Given the description of an element on the screen output the (x, y) to click on. 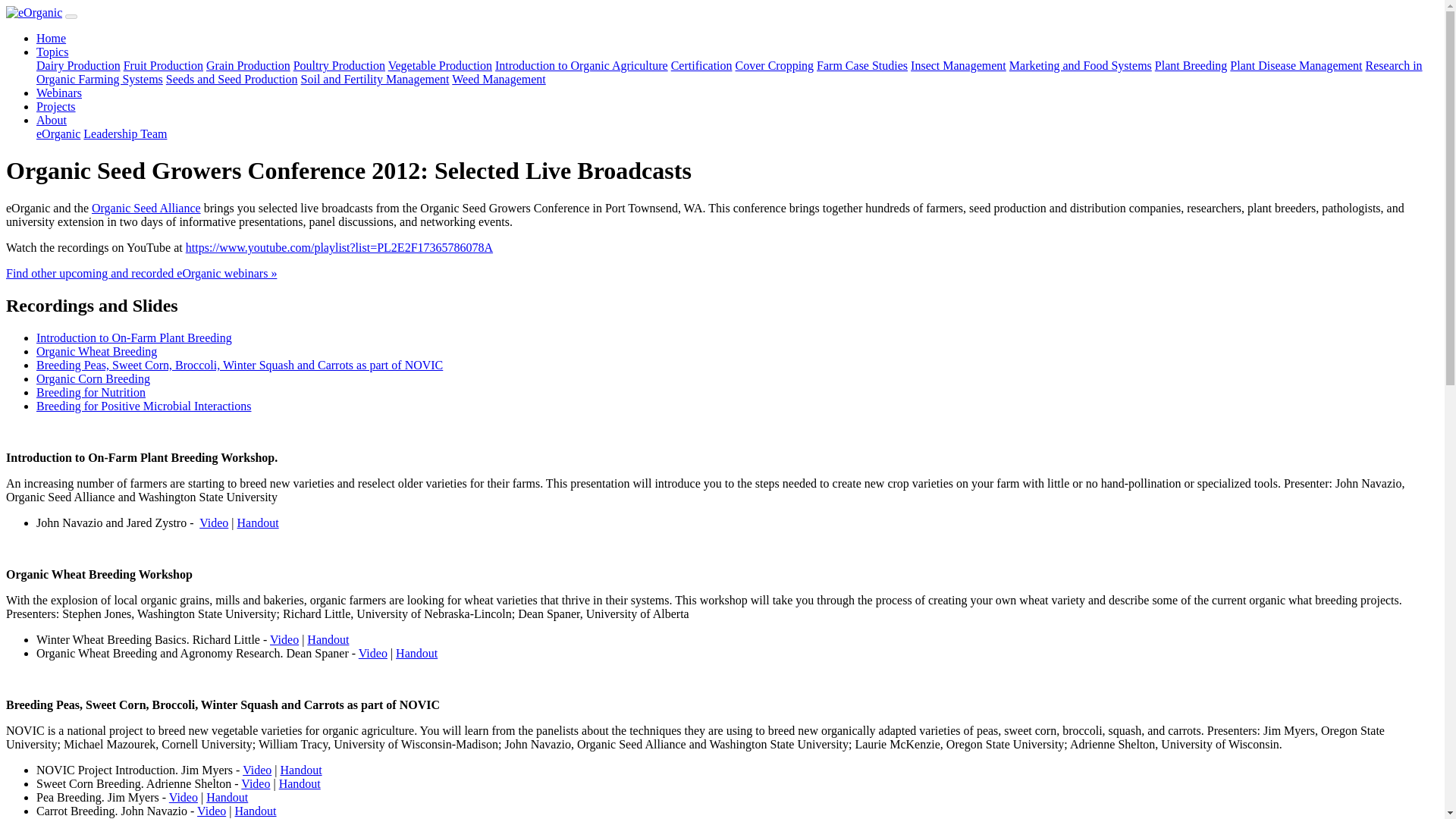
eOrganic (58, 133)
Marketing and Food Systems (1080, 65)
Home (50, 38)
Organic Wheat Breeding (96, 350)
Cover Cropping (774, 65)
Research in Organic Farming Systems (729, 71)
Webinars (58, 92)
Topics (52, 51)
Handout (258, 522)
Breeding for Positive Microbial Interactions (143, 405)
